Given the description of an element on the screen output the (x, y) to click on. 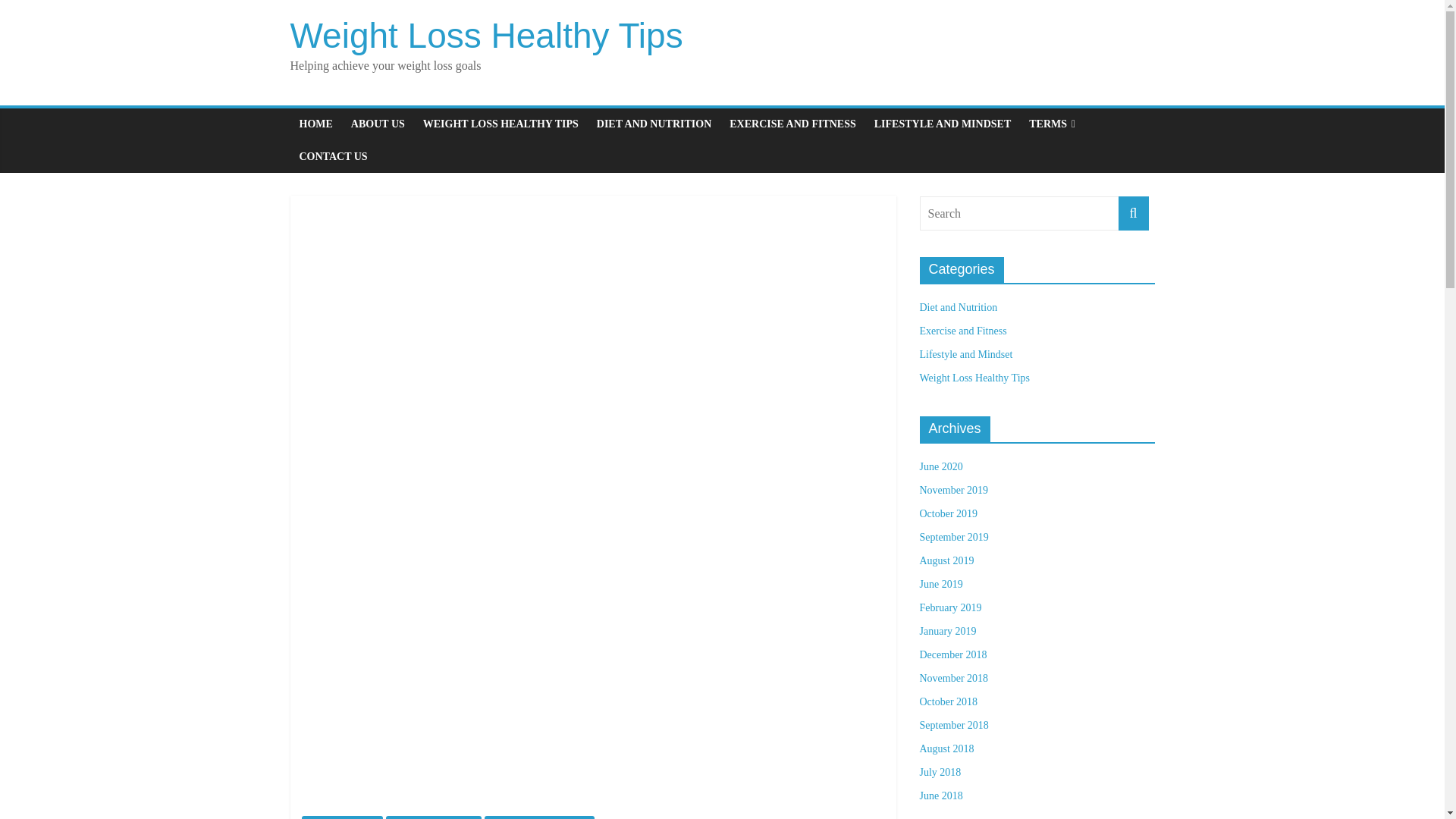
August 2019 (946, 560)
LIFESTYLE AND MINDSET (942, 124)
Exercise and Fitness (962, 330)
Weight Loss Healthy Tips (973, 378)
Weight Loss Healthy Tips (539, 817)
October 2019 (947, 513)
Weight Loss Healthy Tips (485, 35)
ABOUT US (377, 124)
November 2019 (953, 490)
DIET AND NUTRITION (654, 124)
Weight Loss Healthy Tips (485, 35)
HOME (314, 124)
Diet and Nutrition (957, 307)
February 2019 (949, 607)
WEIGHT LOSS HEALTHY TIPS (500, 124)
